Given the description of an element on the screen output the (x, y) to click on. 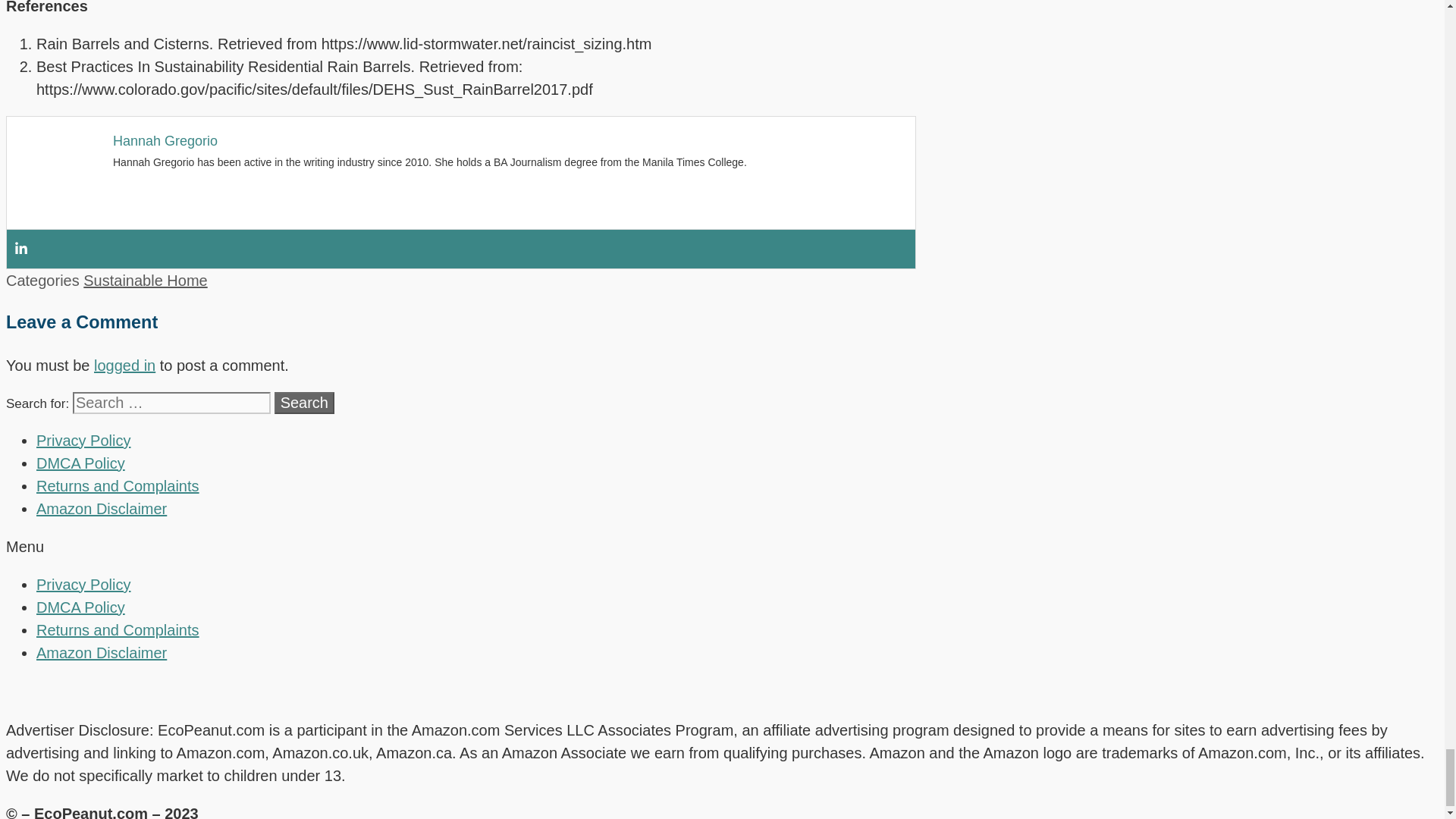
Search (304, 403)
Search for: (171, 403)
Search (304, 403)
